Given the description of an element on the screen output the (x, y) to click on. 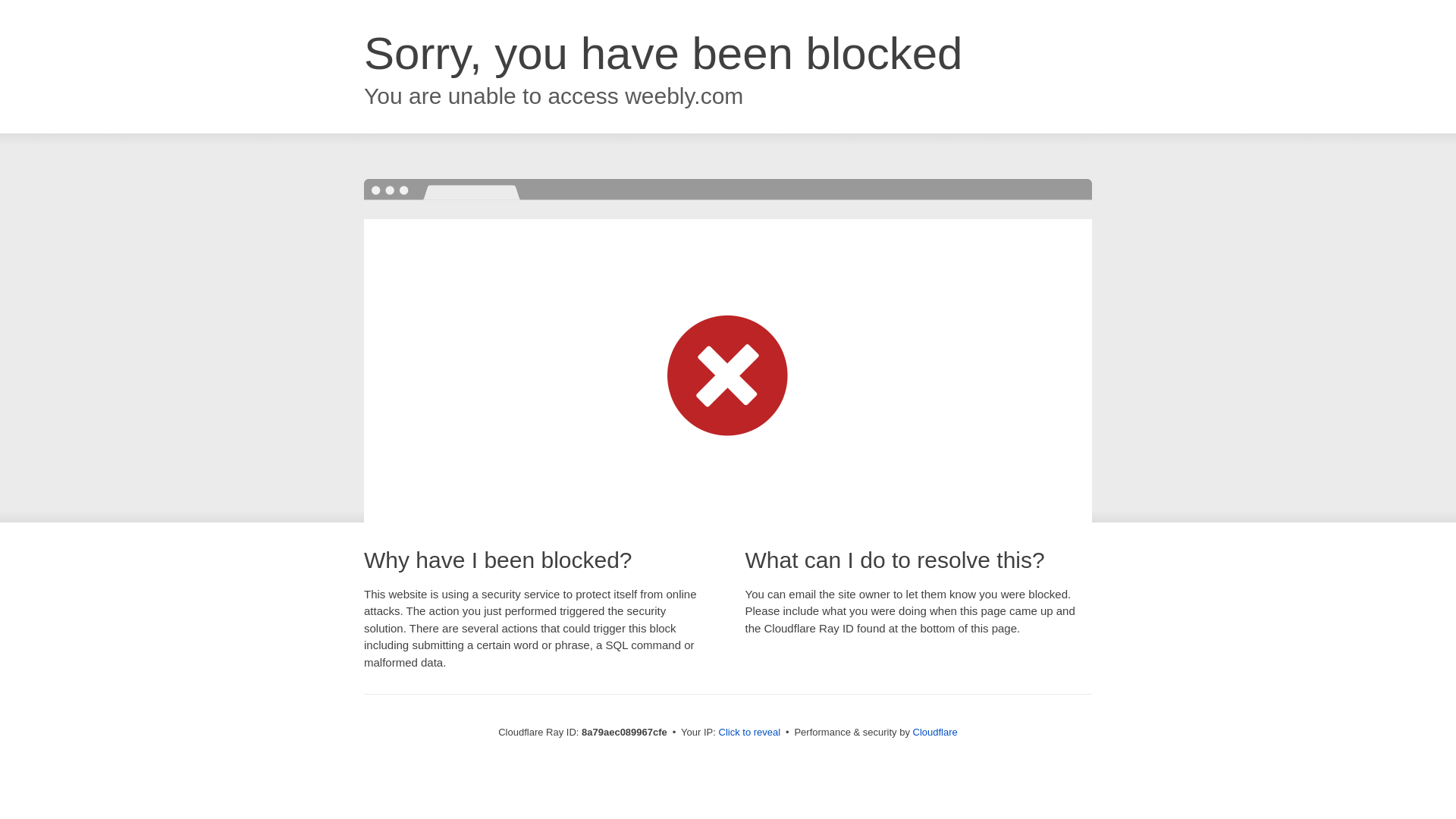
Cloudflare (935, 731)
Click to reveal (749, 732)
